Given the description of an element on the screen output the (x, y) to click on. 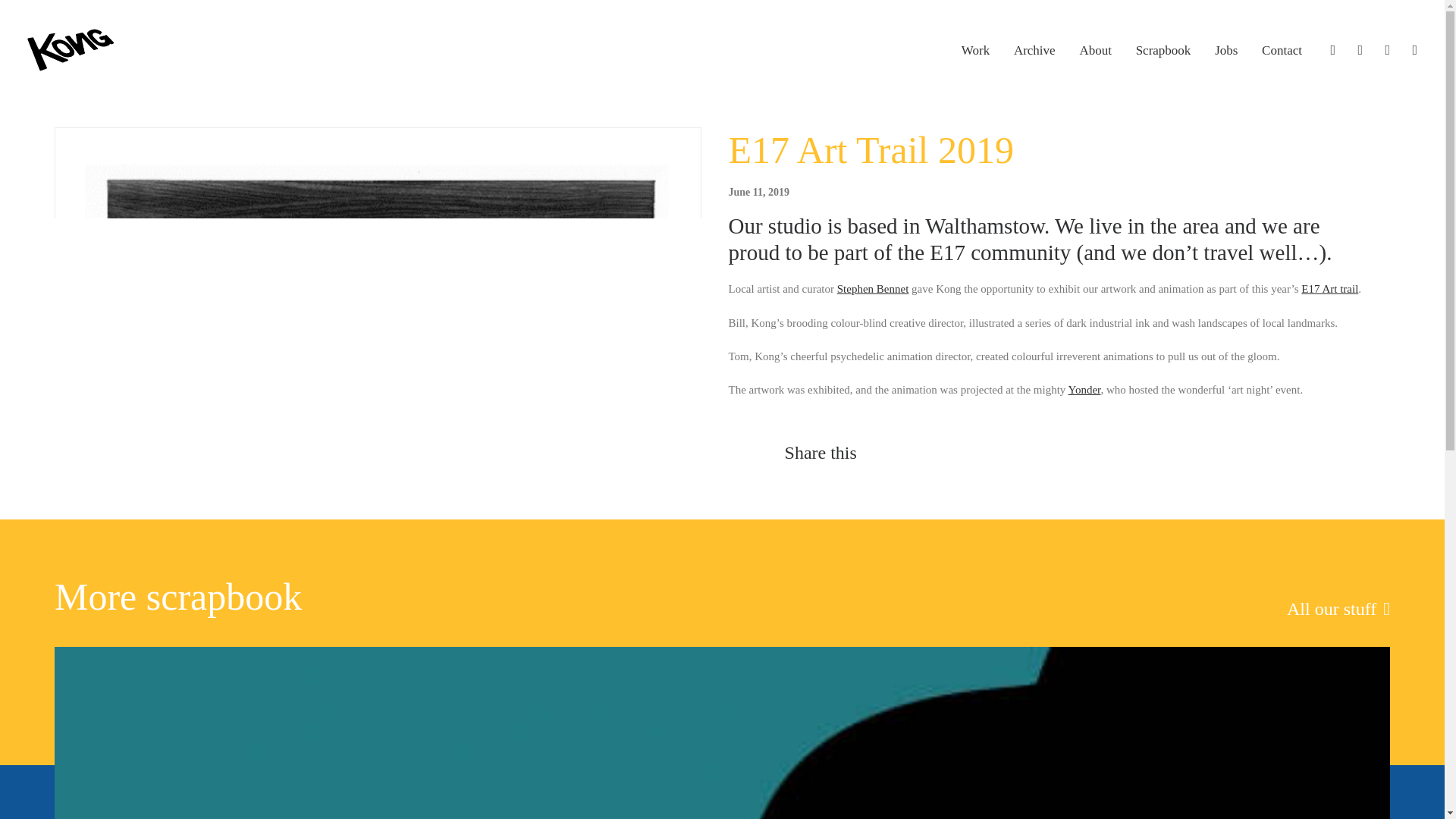
Stuff behind the scenes (1338, 608)
E17 Art trail (1329, 288)
Archive (1034, 49)
All our stuff (1338, 608)
Stephen Bennet (872, 288)
About (1095, 49)
Stuff behind the scenes (1163, 49)
Contact (1275, 49)
About (1095, 49)
Contact (1275, 49)
Jobs (1225, 49)
Scrapbook (1163, 49)
Kong animation studio projects (975, 49)
Work (975, 49)
Jobs (1225, 49)
